Given the description of an element on the screen output the (x, y) to click on. 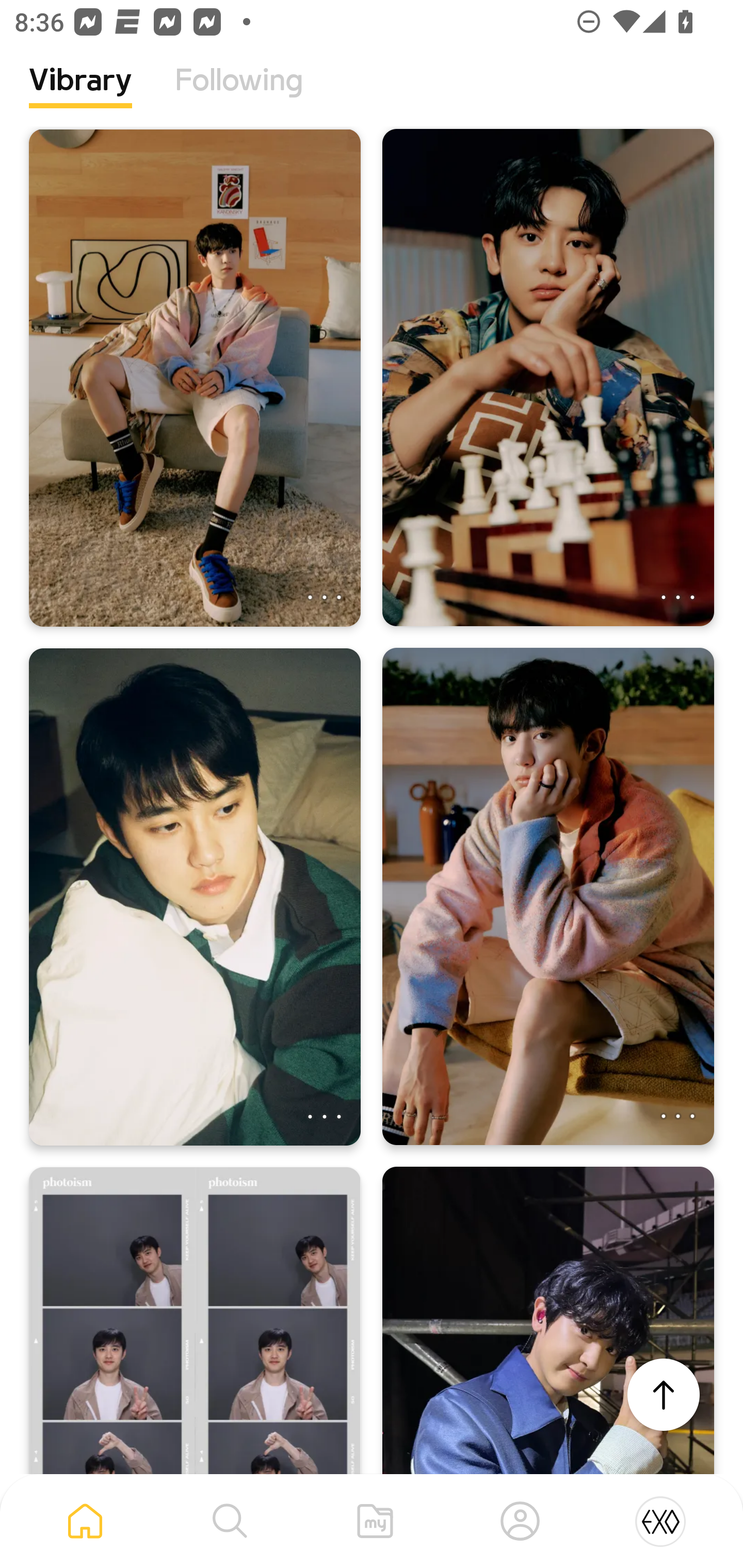
Vibrary (80, 95)
Following (239, 95)
